Given the description of an element on the screen output the (x, y) to click on. 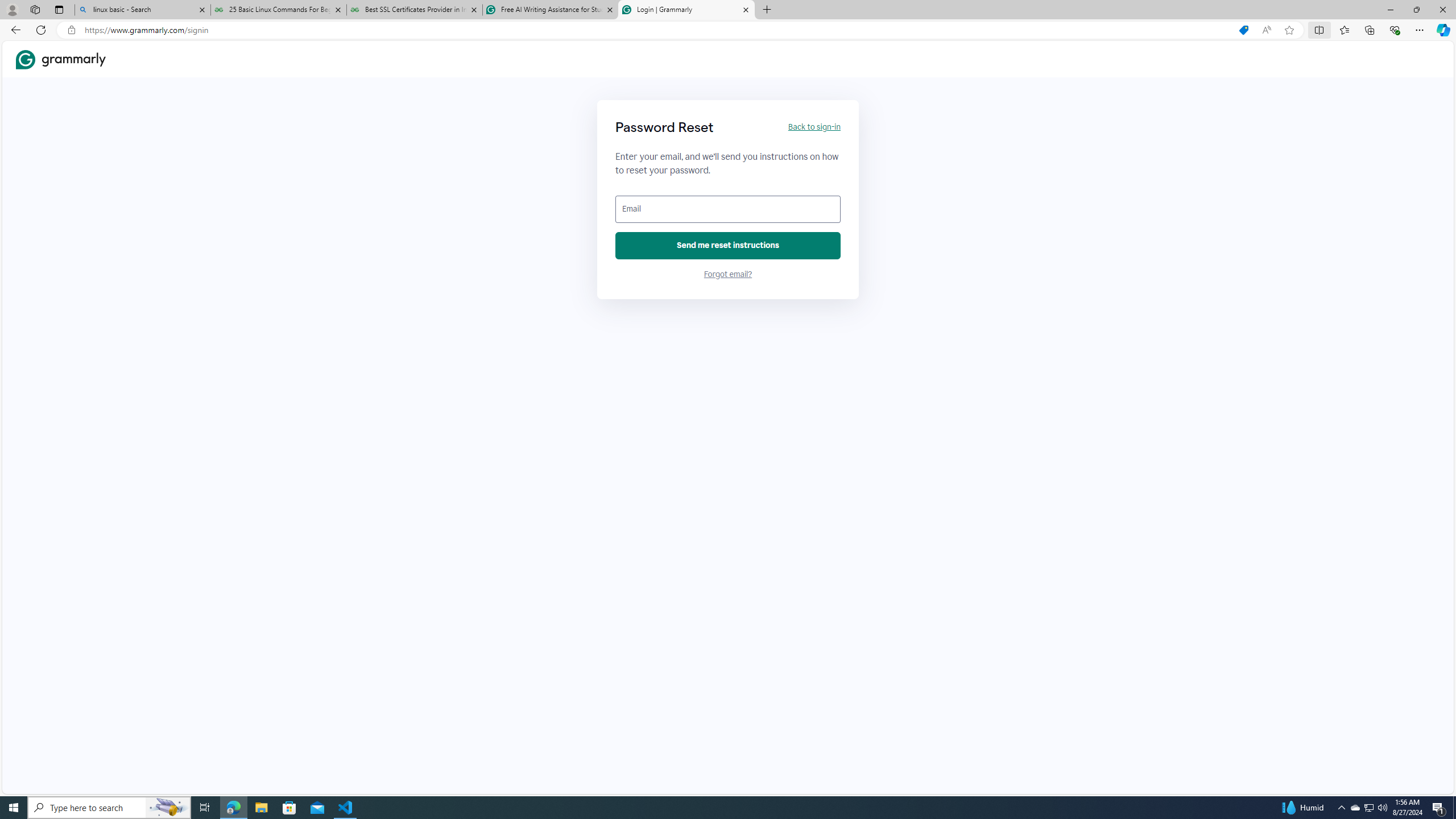
Email (727, 209)
Login | Grammarly (685, 9)
Back to sign-in (813, 127)
Grammarly Home (61, 59)
Forgot email? (727, 274)
Grammarly Home (61, 58)
